Given the description of an element on the screen output the (x, y) to click on. 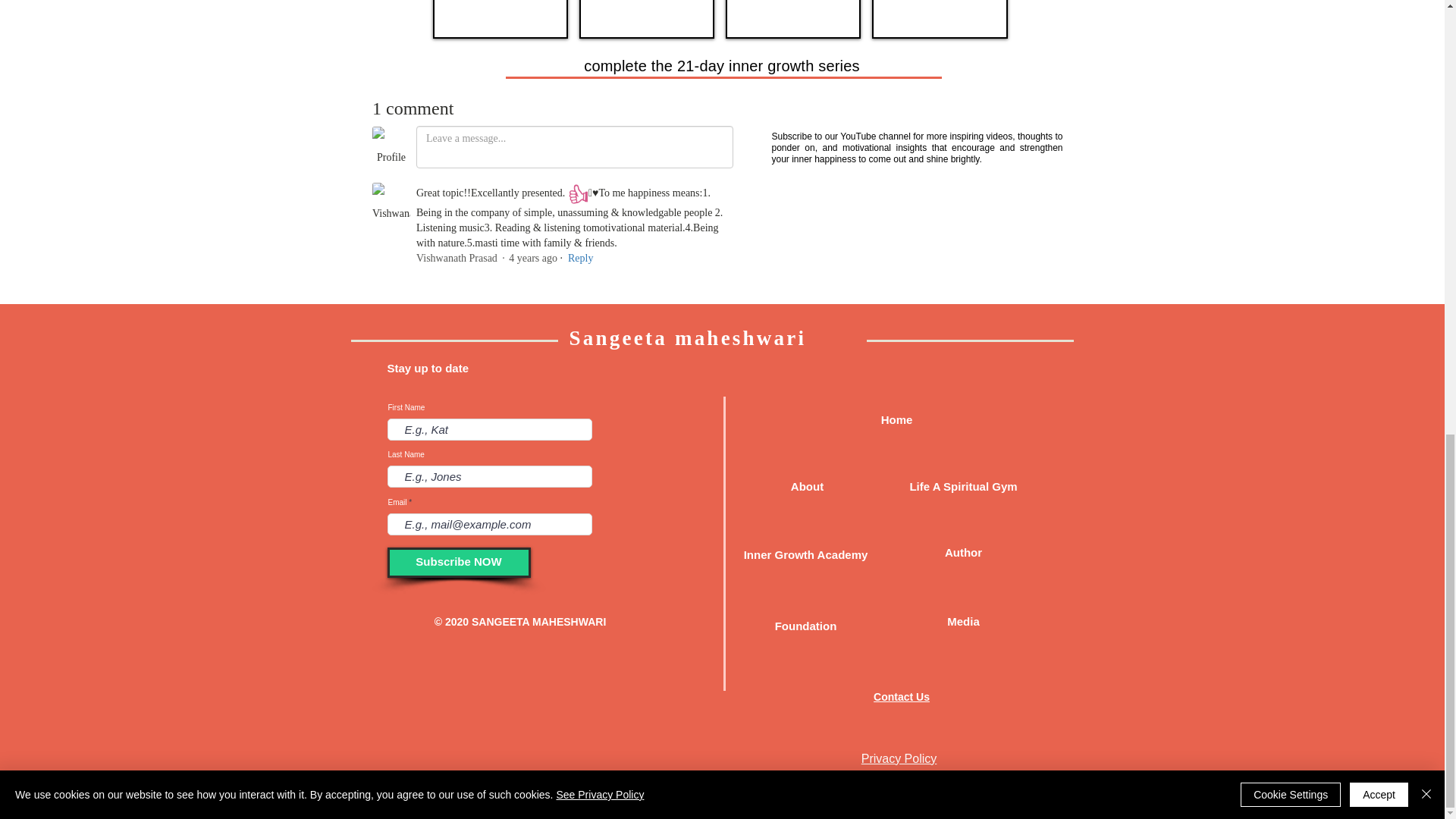
Activating Senses (792, 19)
Comments (551, 194)
Little but Often (499, 19)
Defining New Normalcy (646, 19)
